Given the description of an element on the screen output the (x, y) to click on. 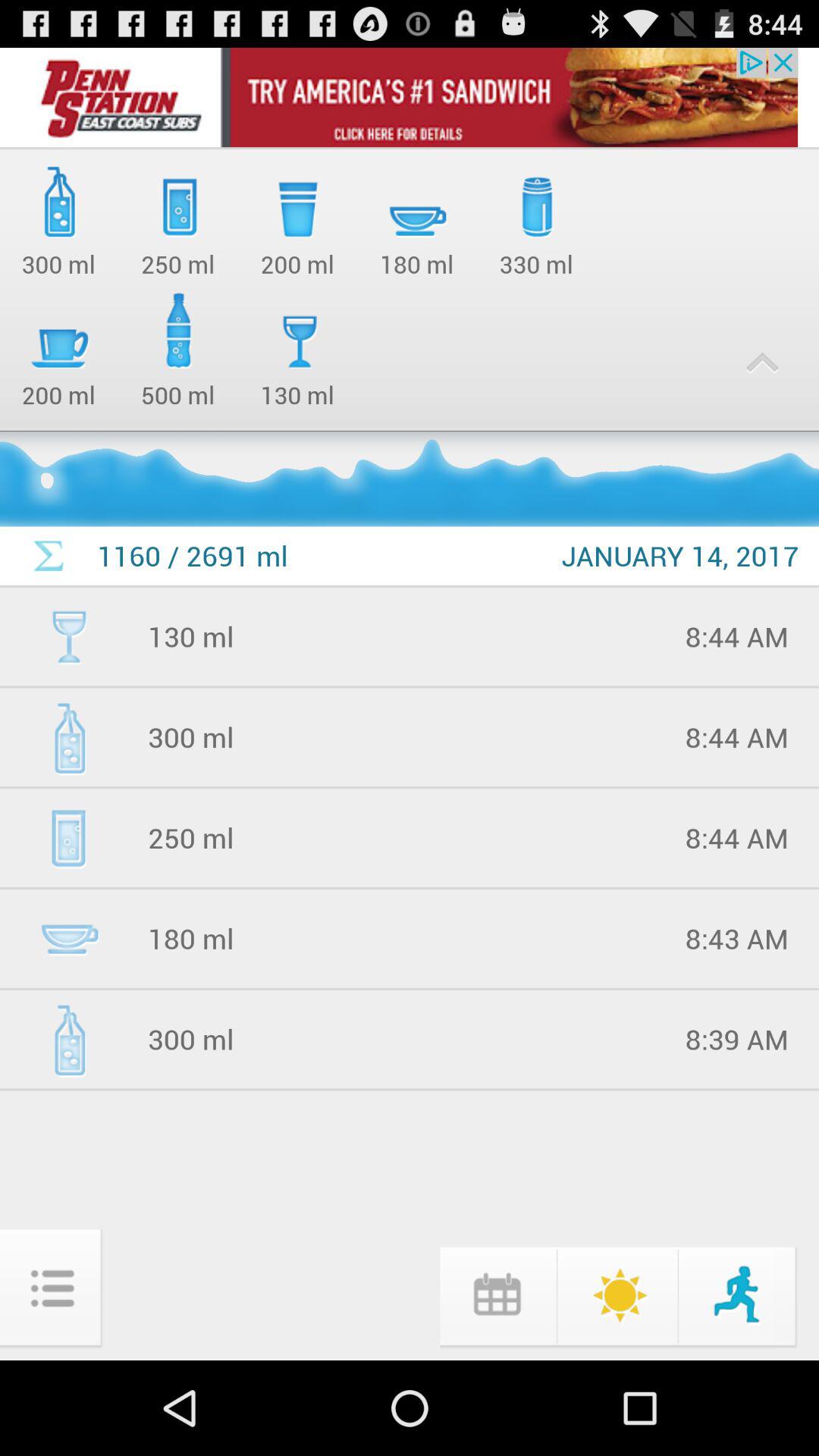
select the running icon at the bottom right (738, 1294)
select the cup icon below glass icon (69, 937)
click on the icon which is left to 300 ml (69, 1039)
